Given the description of an element on the screen output the (x, y) to click on. 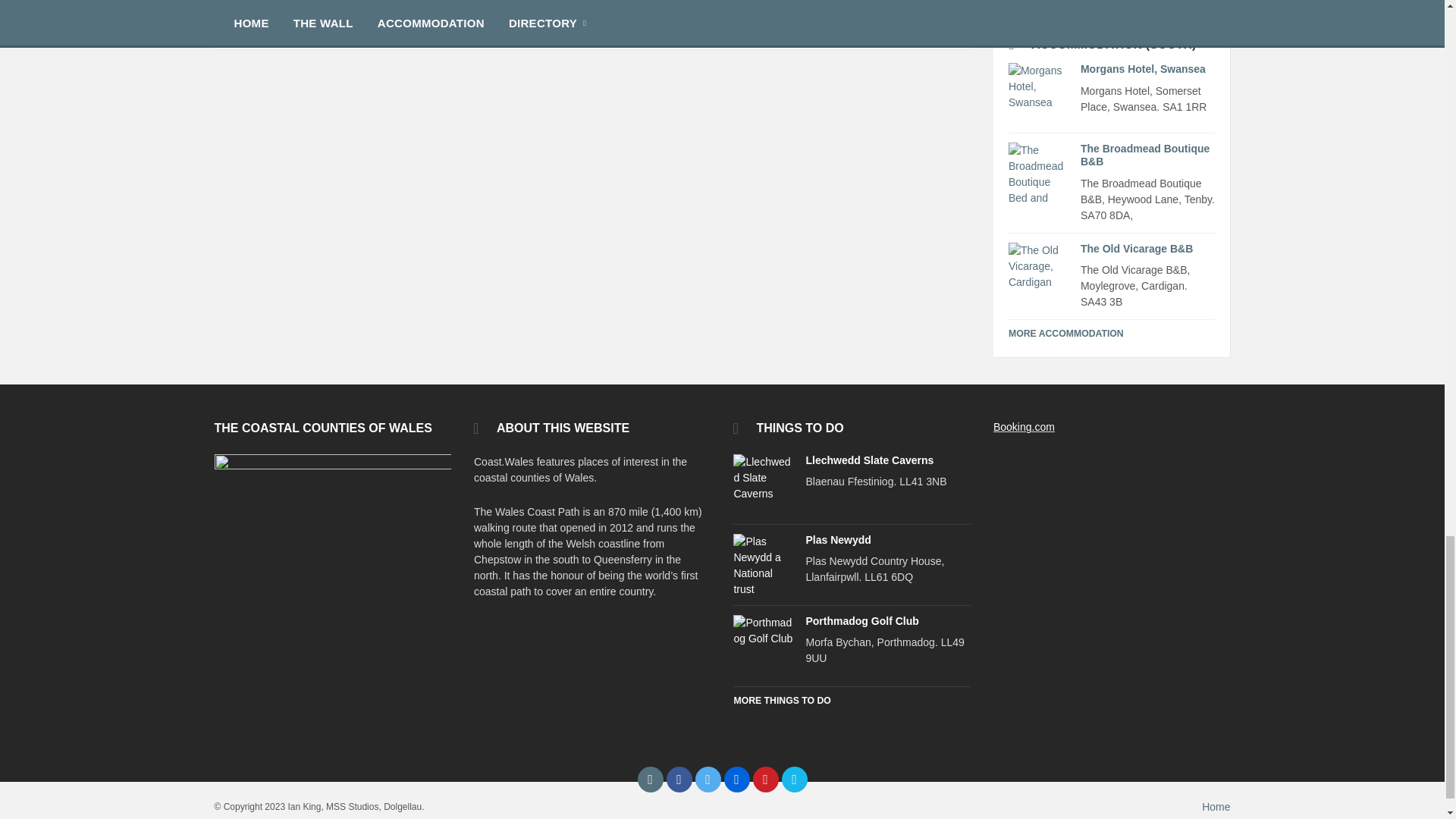
Castles (268, 23)
Category (591, 23)
